Given the description of an element on the screen output the (x, y) to click on. 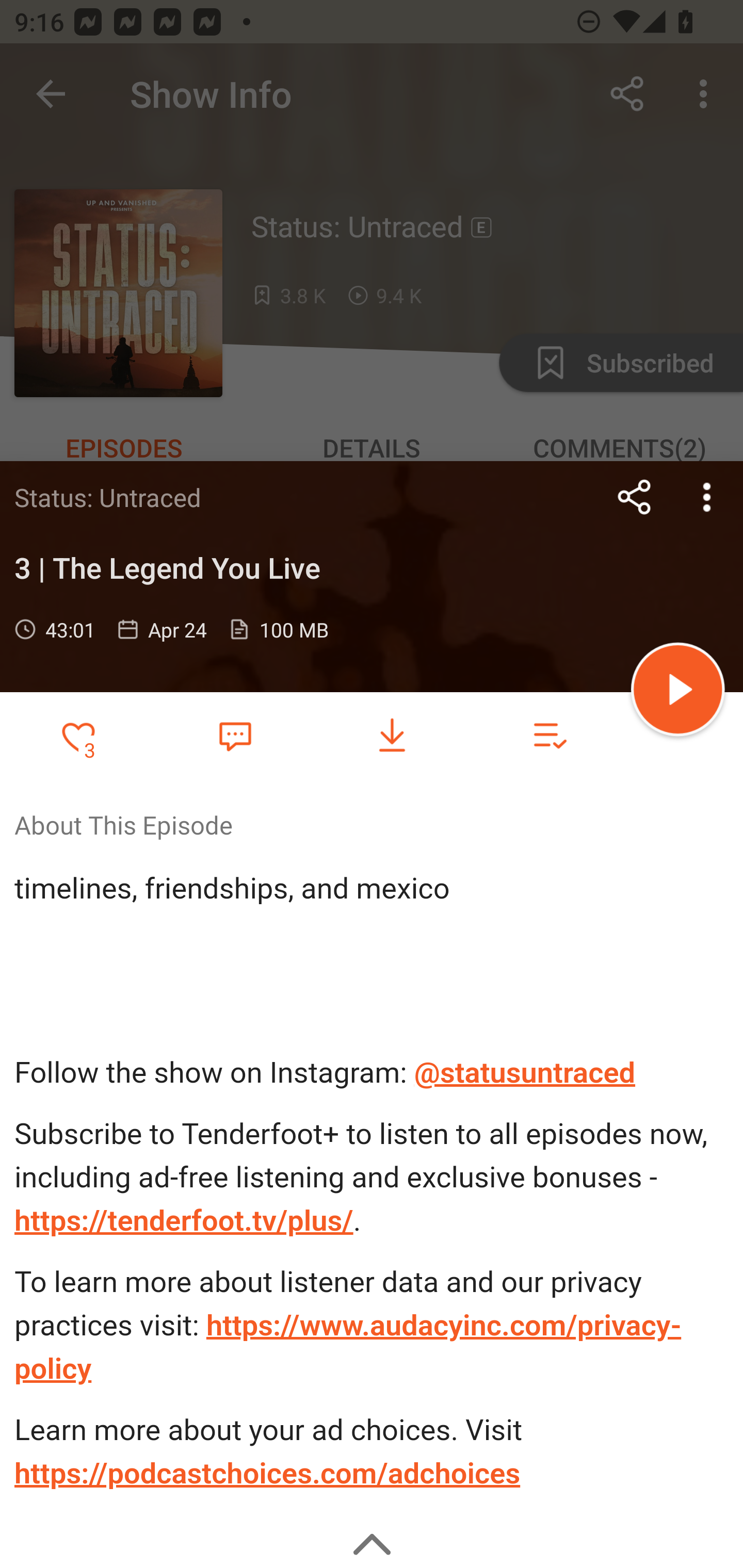
Share (634, 496)
more options (706, 496)
Play (677, 692)
Favorite (234, 735)
Add to Favorites (78, 735)
Download (391, 735)
Add to playlist (548, 735)
@statusuntraced (525, 1073)
https://tenderfoot.tv/plus/ (183, 1220)
https://www.audacyinc.com/privacy-policy (348, 1347)
https://podcastchoices.com/adchoices (267, 1473)
